Given the description of an element on the screen output the (x, y) to click on. 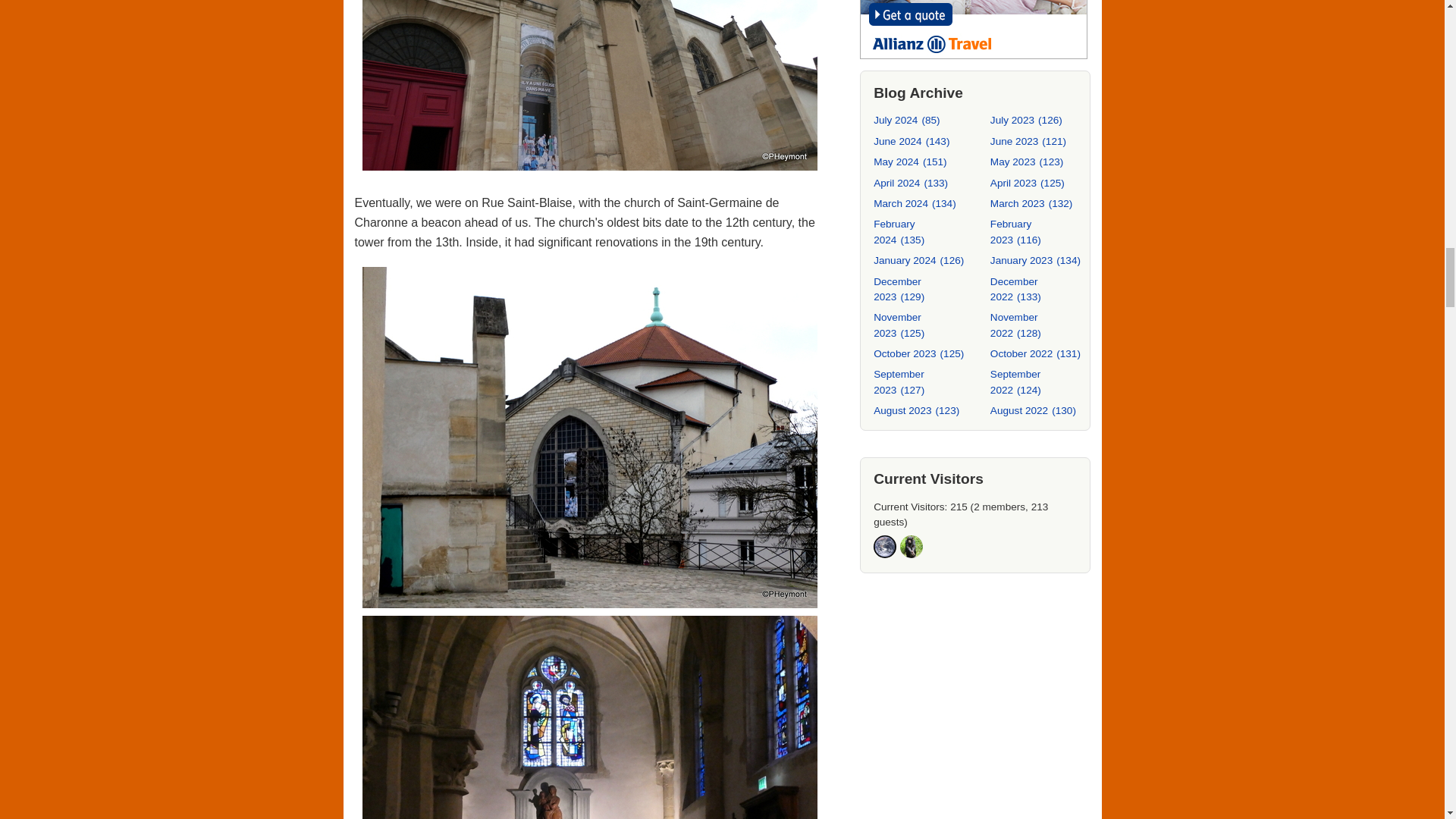
P1210196 (589, 717)
P1210192 (589, 85)
